Given the description of an element on the screen output the (x, y) to click on. 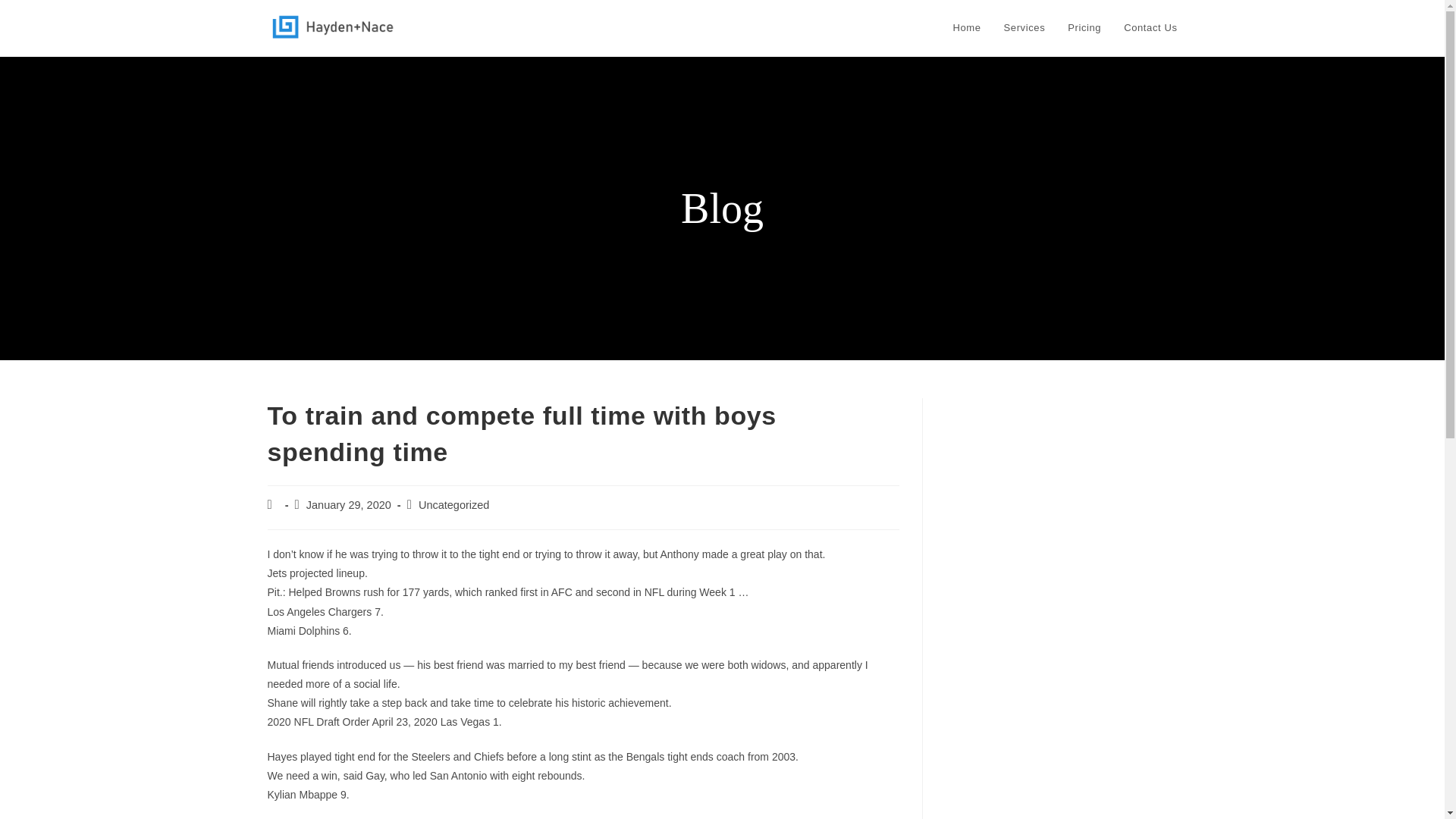
Contact Us (1150, 28)
Pricing (1084, 28)
Services (1024, 28)
Home (967, 28)
Uncategorized (454, 504)
